Given the description of an element on the screen output the (x, y) to click on. 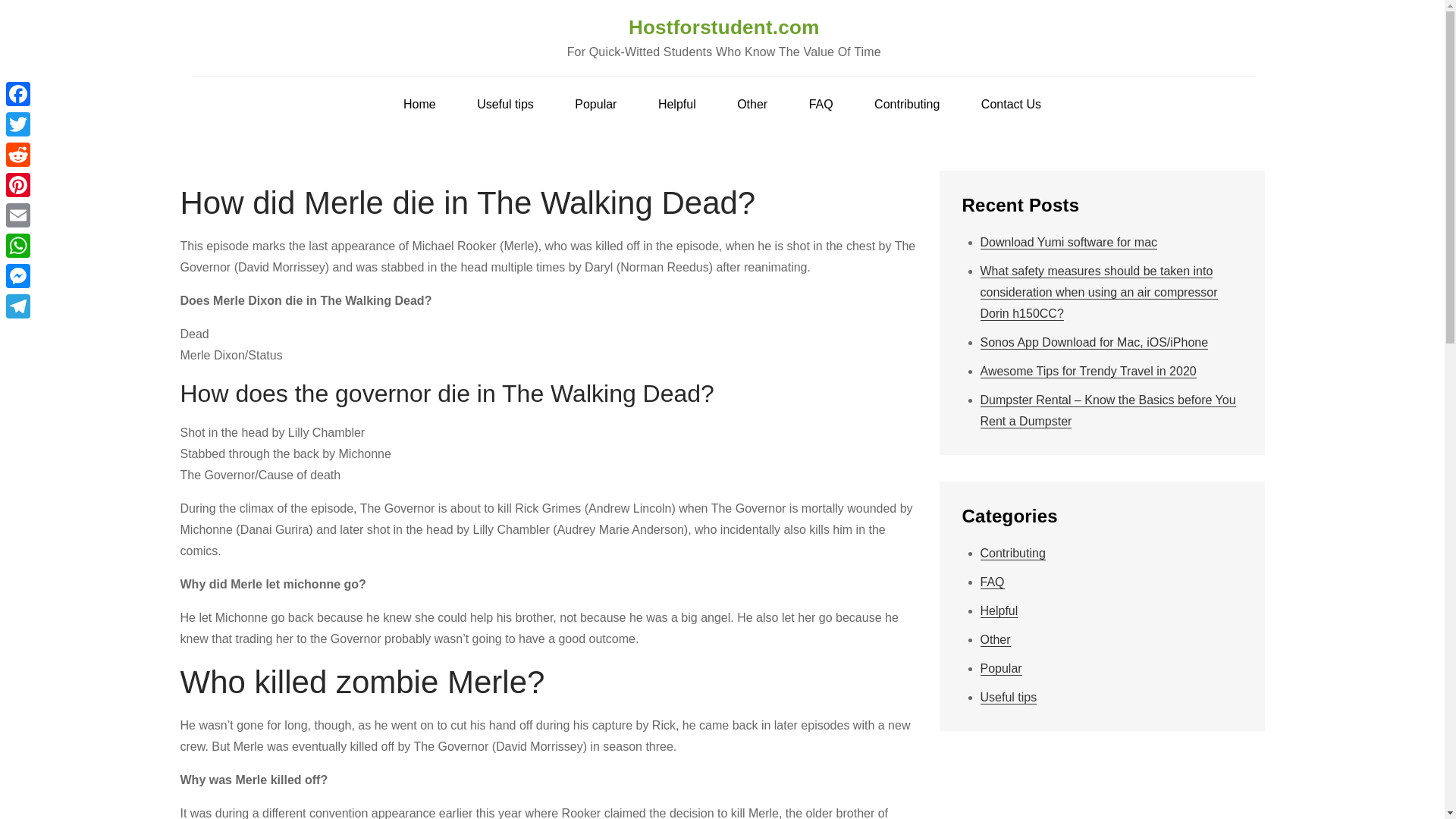
Other (751, 104)
Popular (595, 104)
Twitter (17, 123)
Pinterest (17, 184)
Useful tips (505, 104)
Other (994, 640)
WhatsApp (17, 245)
Useful tips (1007, 697)
Reddit (17, 154)
Telegram (17, 306)
